Given the description of an element on the screen output the (x, y) to click on. 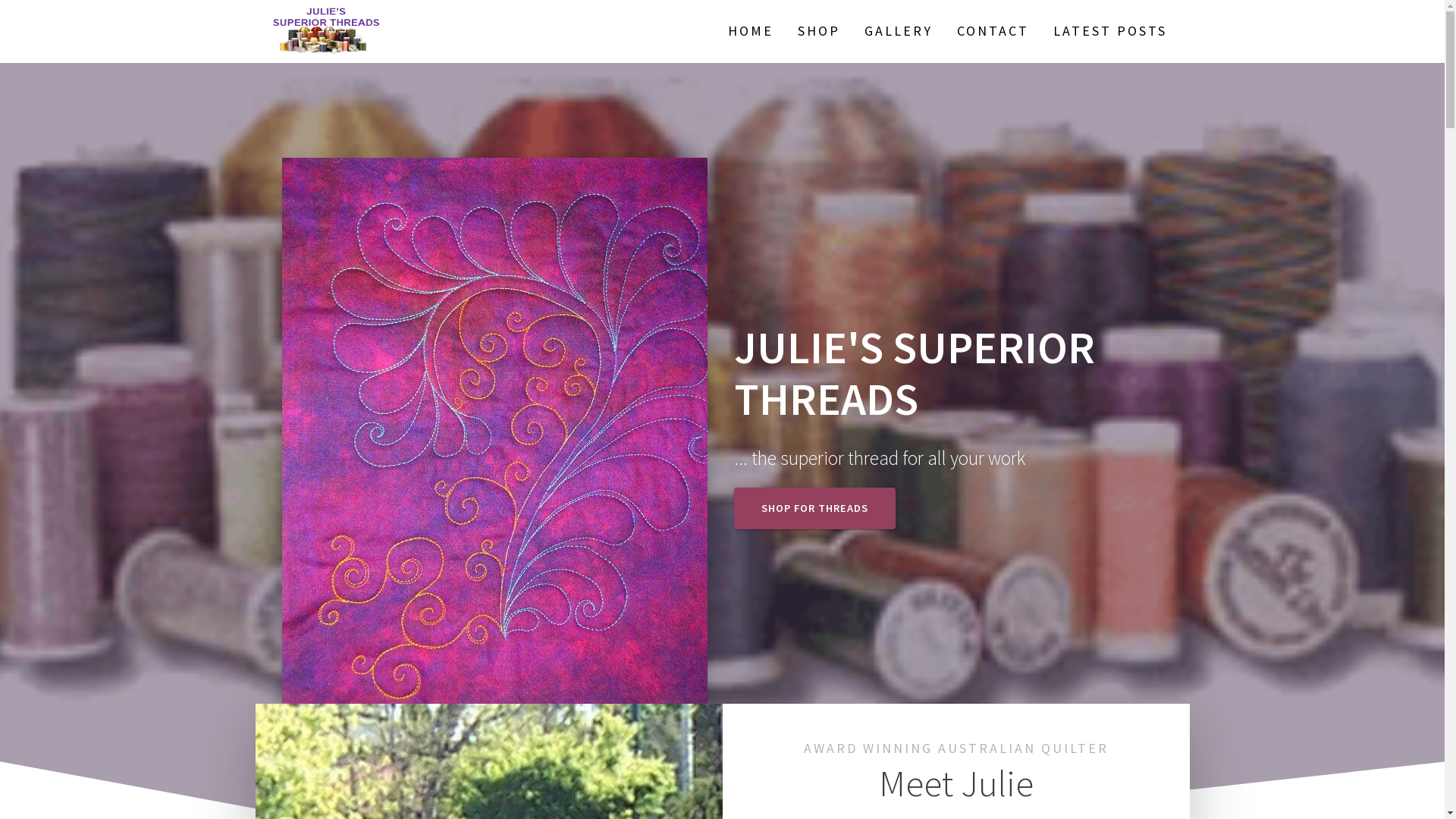
SHOP FOR THREADS Element type: text (814, 508)
SHOP Element type: text (818, 31)
HOME Element type: text (750, 31)
CONTACT Element type: text (993, 31)
LATEST POSTS Element type: text (1110, 31)
GALLERY Element type: text (898, 31)
